Given the description of an element on the screen output the (x, y) to click on. 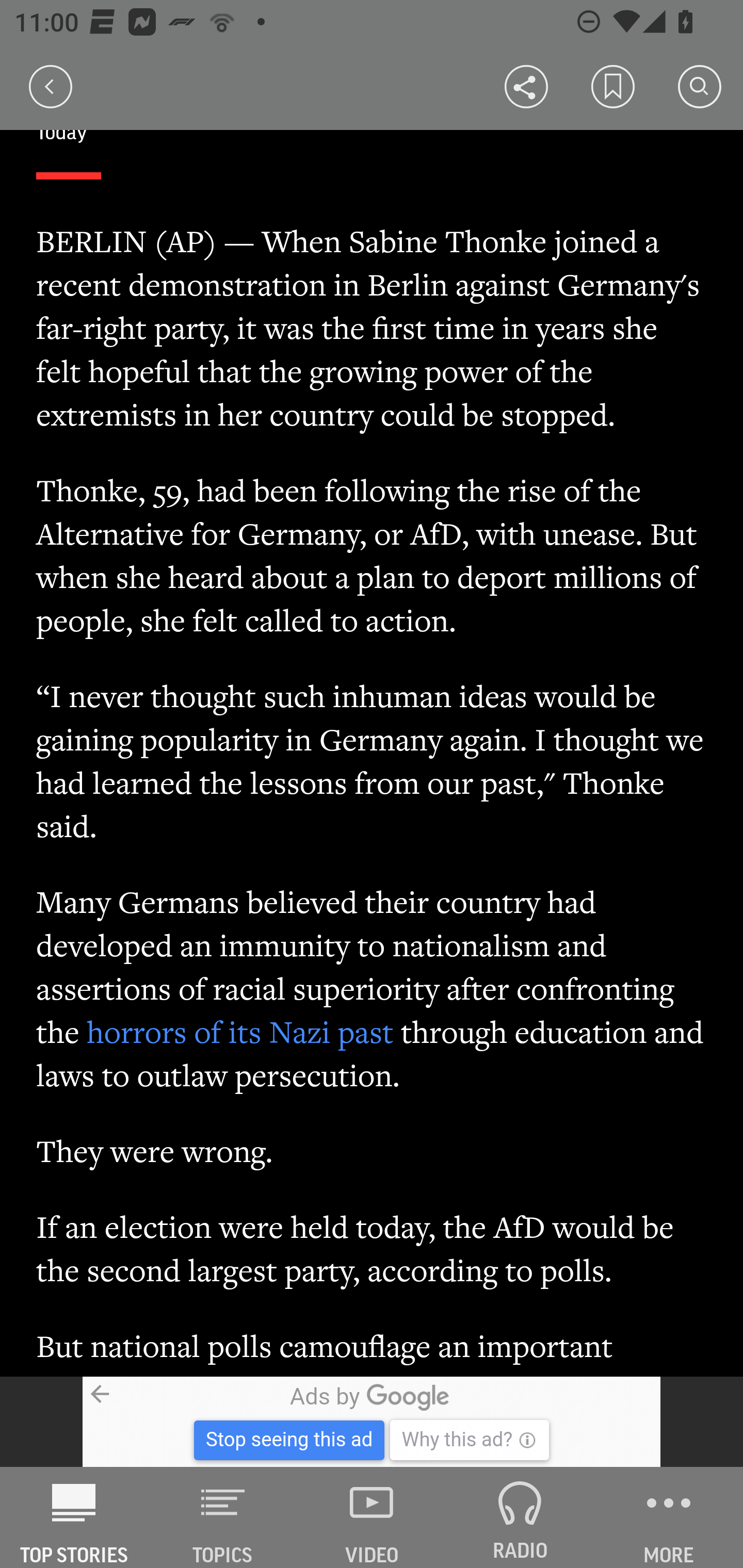
horrors of its Nazi past (240, 1031)
tbox%3FDCSext (371, 1421)
AP News TOP STORIES (74, 1517)
TOPICS (222, 1517)
VIDEO (371, 1517)
RADIO (519, 1517)
MORE (668, 1517)
